Given the description of an element on the screen output the (x, y) to click on. 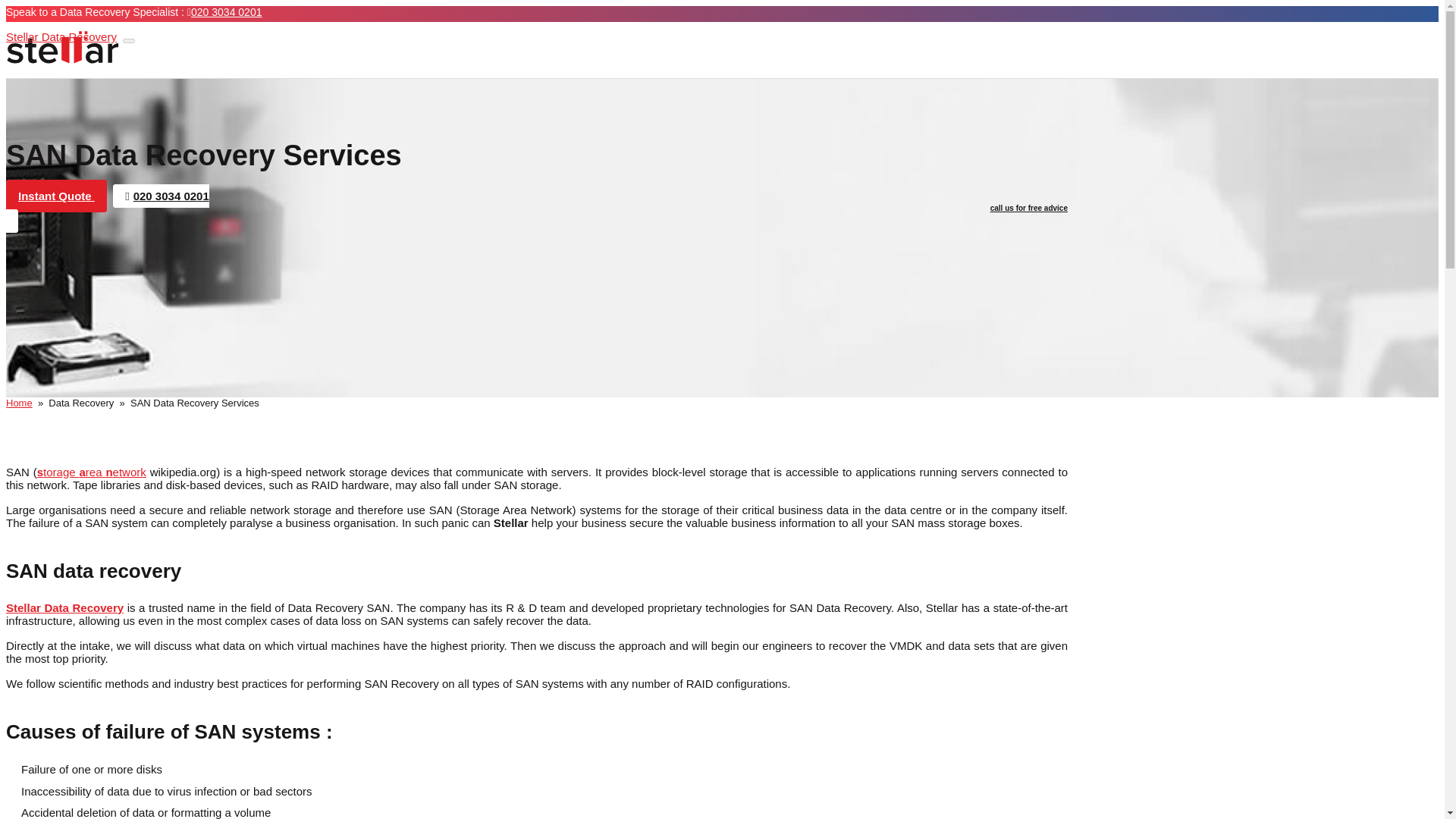
Stellar Data Recovery (62, 47)
020 3034 0201 (224, 11)
